Given the description of an element on the screen output the (x, y) to click on. 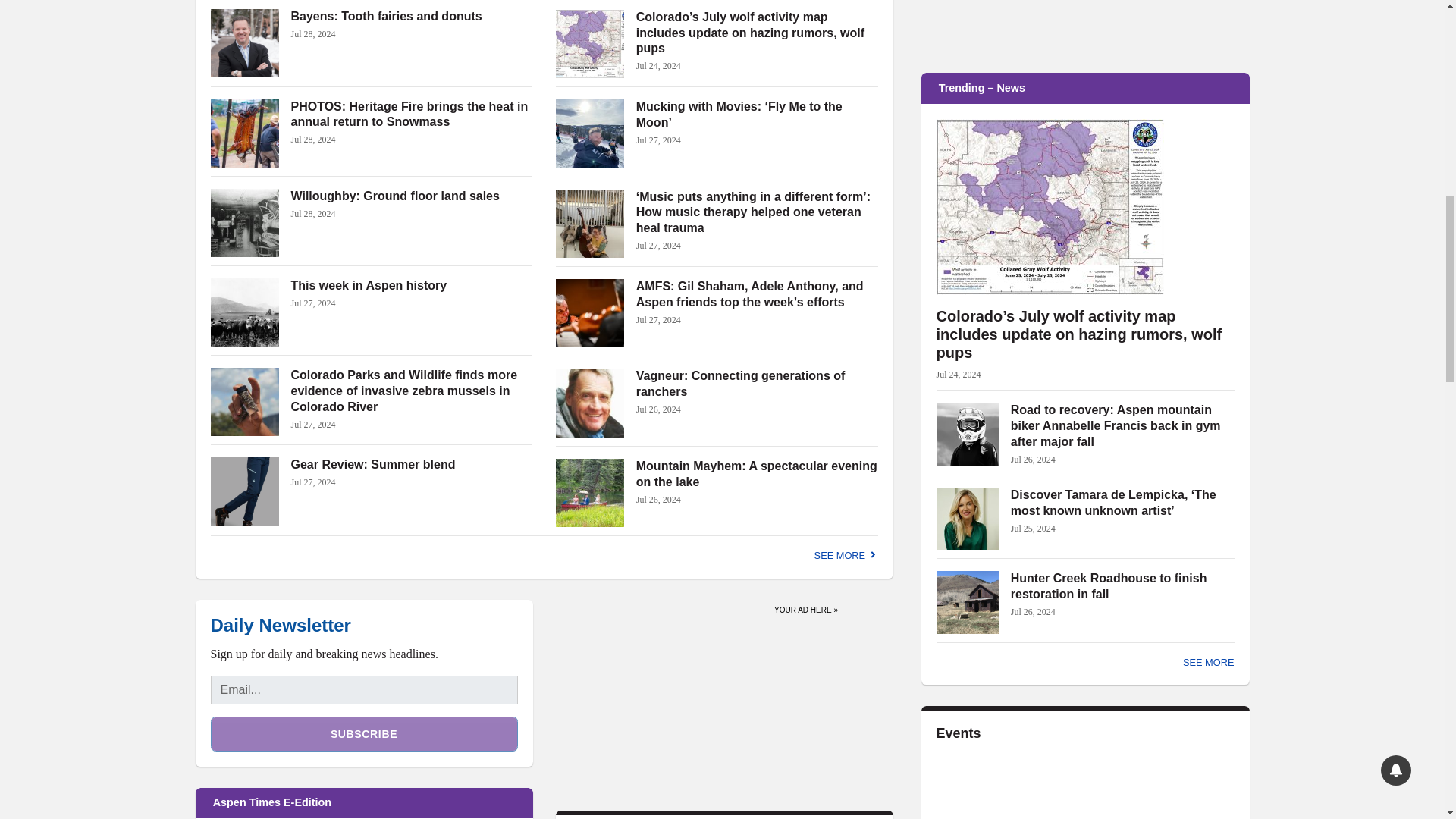
Your Ad Here (806, 606)
